Given the description of an element on the screen output the (x, y) to click on. 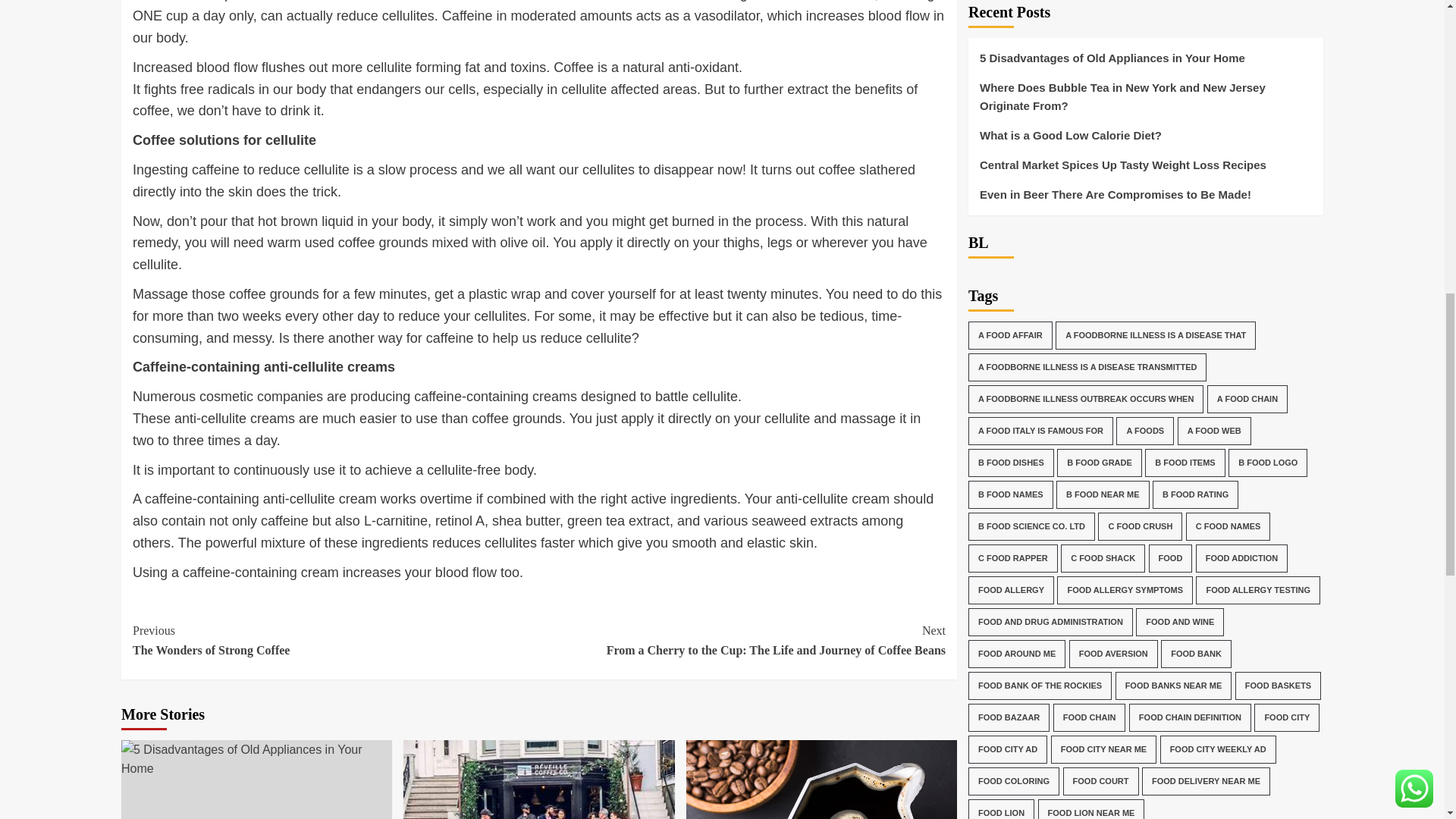
5 Disadvantages of Old Appliances in Your Home (255, 759)
